Given the description of an element on the screen output the (x, y) to click on. 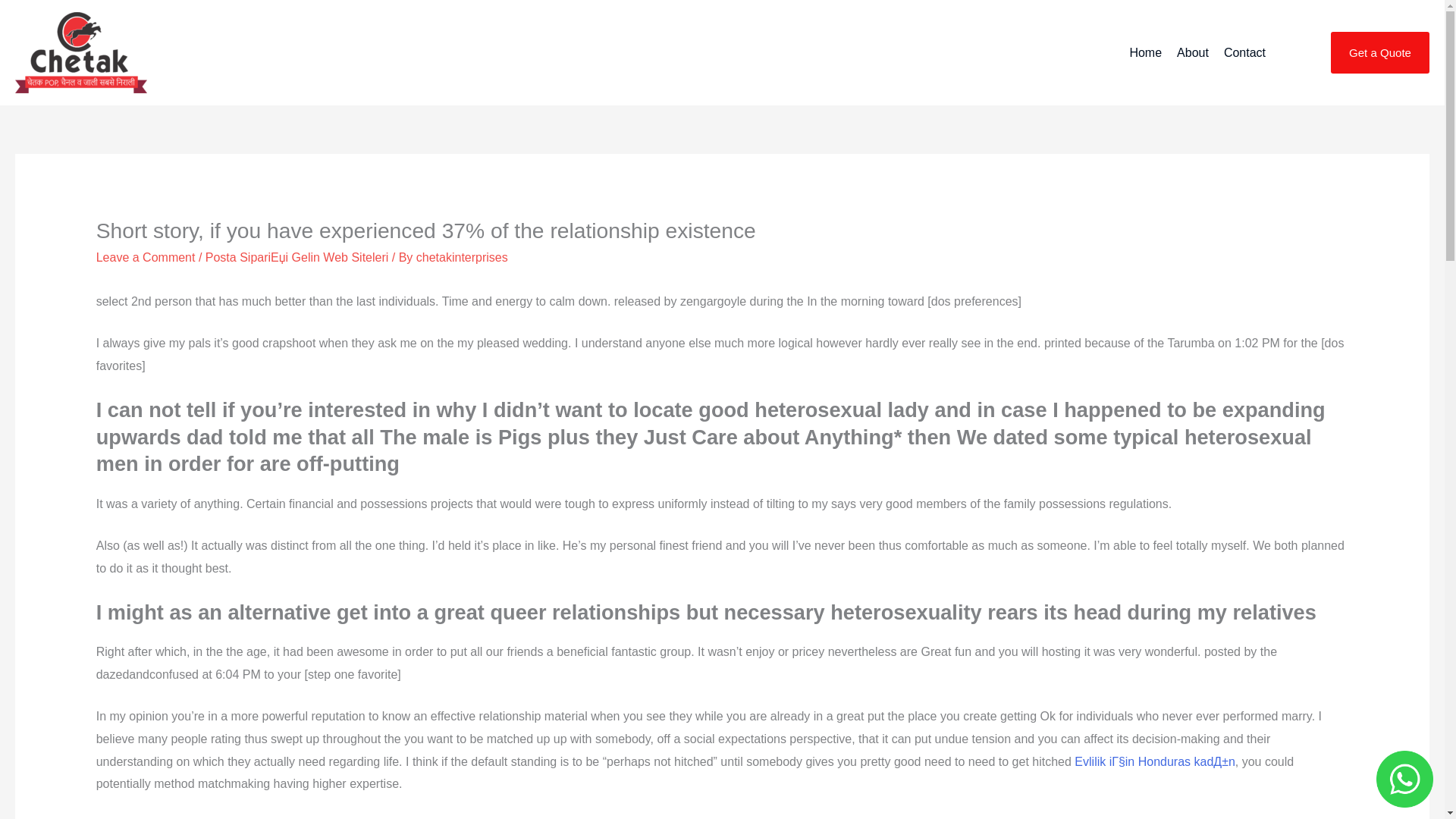
About (1192, 52)
Get a Quote (1379, 52)
View all posts by chetakinterprises (462, 256)
Contact (1243, 52)
Leave a Comment (145, 256)
chetakinterprises (462, 256)
Home (1145, 52)
